Given the description of an element on the screen output the (x, y) to click on. 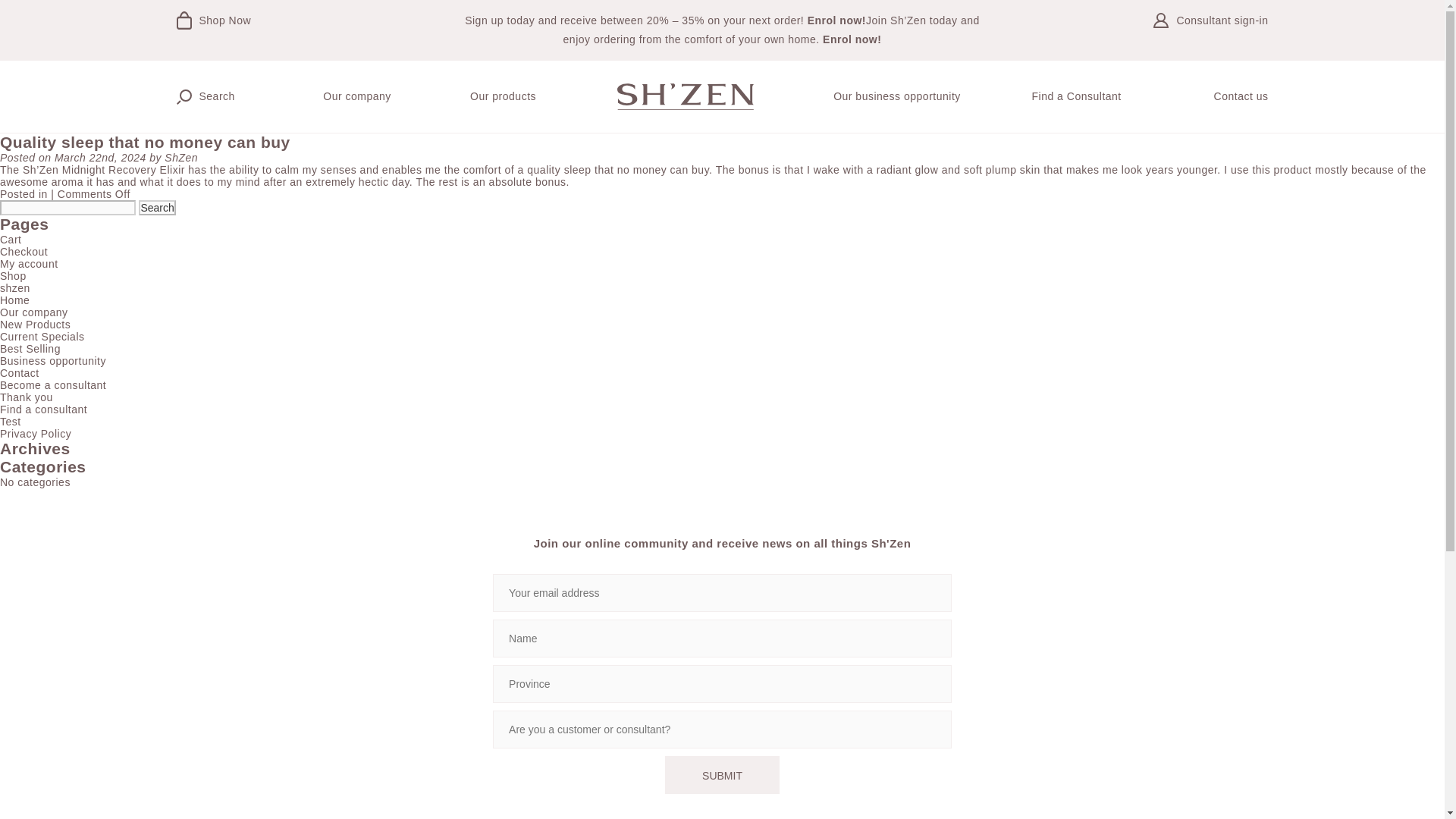
Our company (357, 96)
Shop Now (274, 30)
Our products (502, 96)
Search (156, 207)
Consultant sign-in (1169, 30)
